Given the description of an element on the screen output the (x, y) to click on. 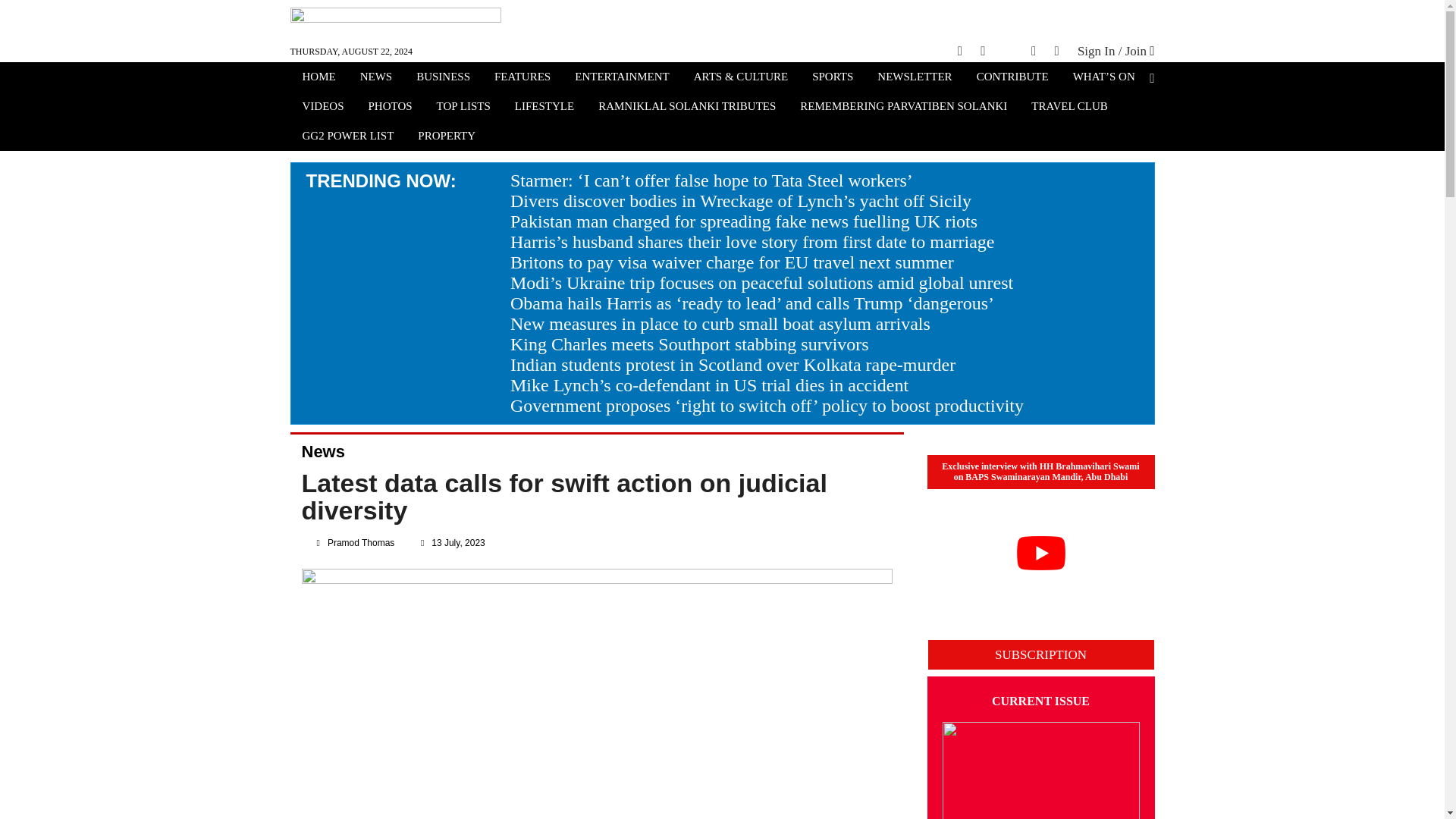
GG2 POWER LIST (346, 137)
CONTRIBUTE (1012, 78)
FEATURES (521, 78)
TRAVEL CLUB (1069, 108)
Britons to pay visa waiver charge for EU travel next summer (732, 261)
New measures in place to curb small boat asylum arrivals (720, 323)
PROPERTY (446, 137)
REMEMBERING PARVATIBEN SOLANKI (903, 108)
NEWS (375, 78)
